Given the description of an element on the screen output the (x, y) to click on. 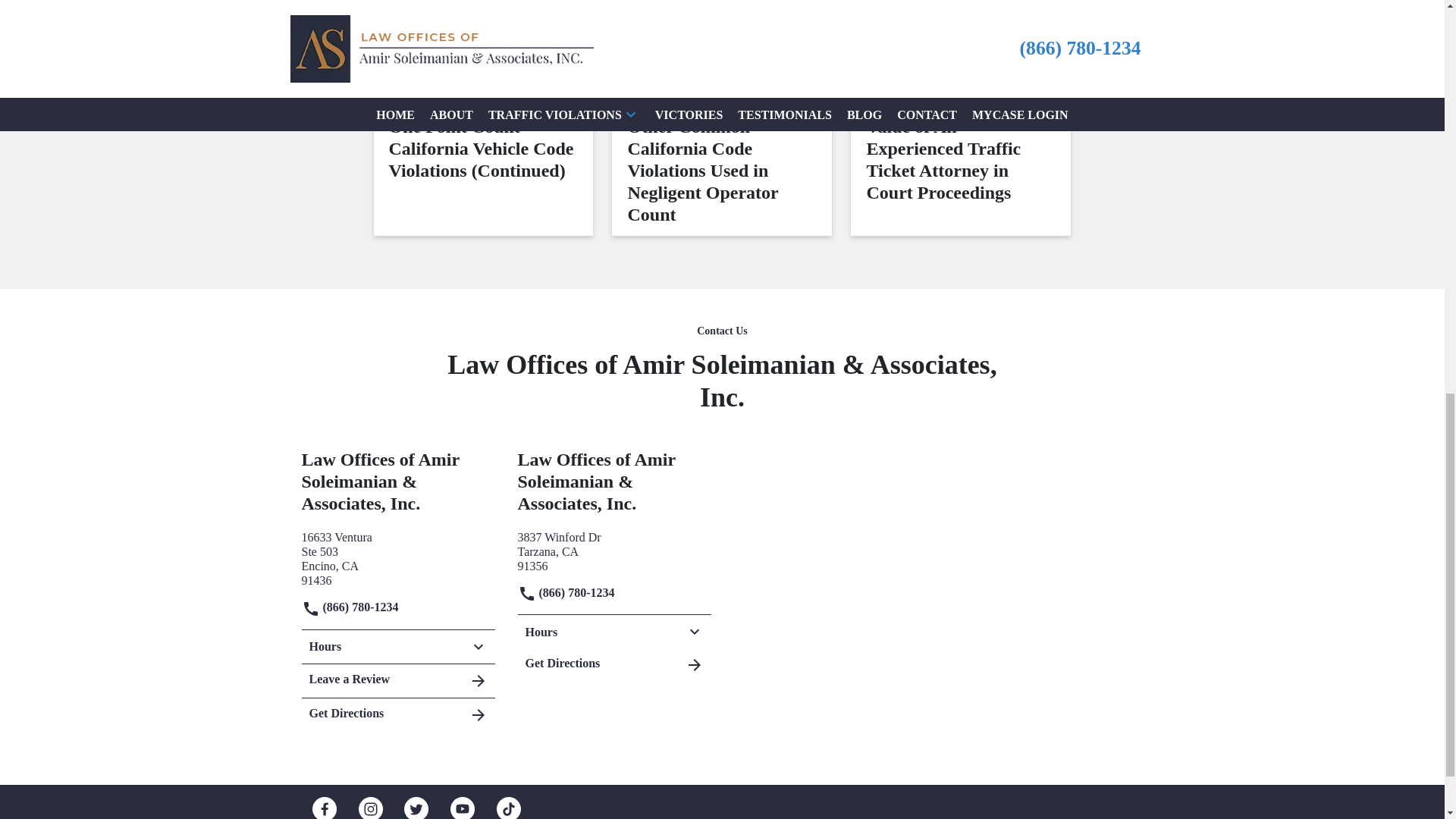
Hours (613, 550)
Leave a Review (398, 557)
Get Directions (398, 646)
